Given the description of an element on the screen output the (x, y) to click on. 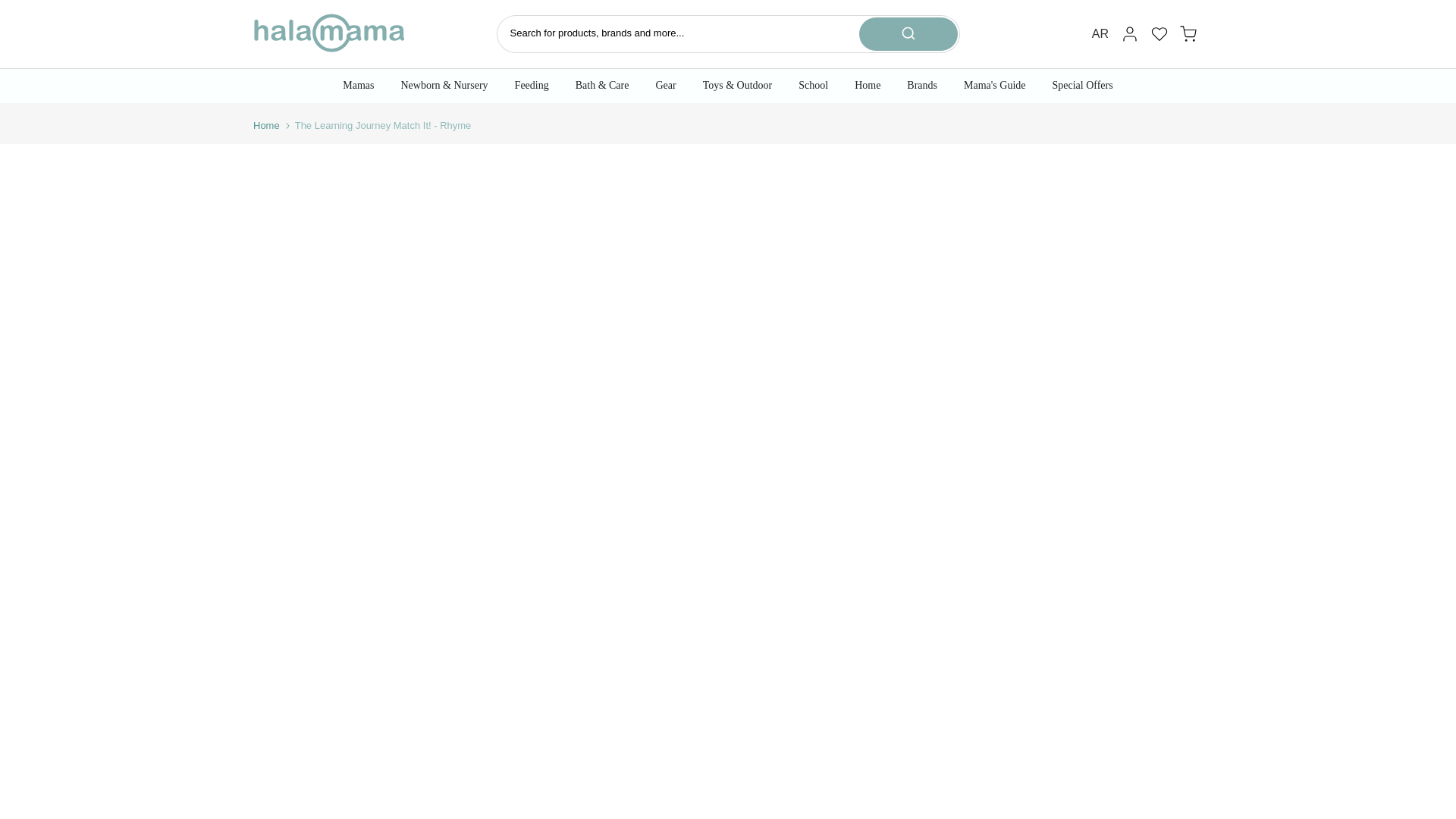
Mamas (358, 85)
Brands (921, 85)
AR (1100, 33)
Home (266, 125)
Special Offers (1082, 85)
Home (867, 85)
Gear (665, 85)
Mama's Guide (994, 85)
Feeding (531, 85)
School (813, 85)
